Given the description of an element on the screen output the (x, y) to click on. 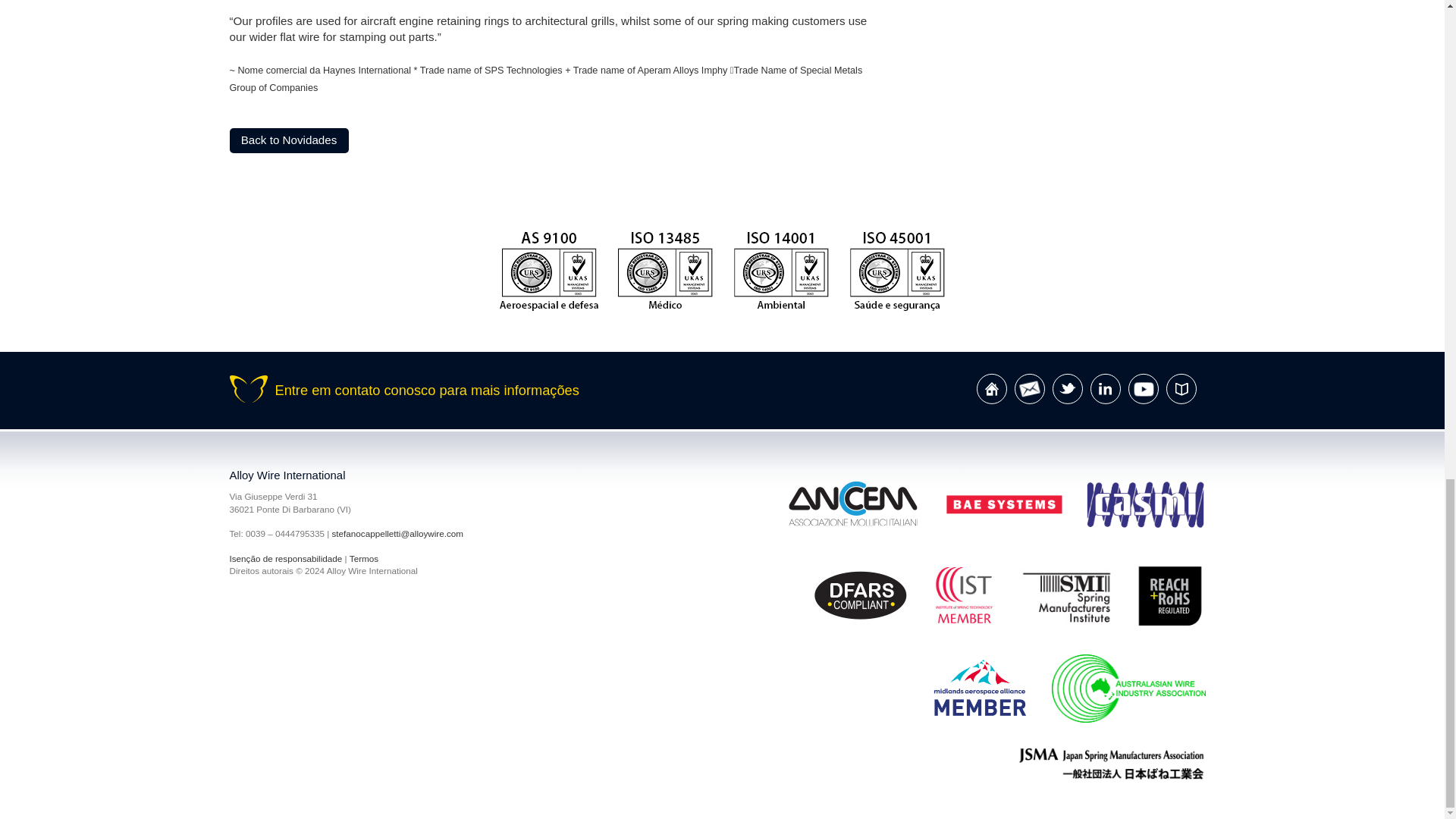
Request a Brochure (1181, 388)
Follow us on LinkedIn (1105, 388)
YouTube (1143, 388)
Contact Alloy Wire (1029, 388)
Follow us on Twitter (1067, 388)
Back to Alloy Wire (991, 388)
